Given the description of an element on the screen output the (x, y) to click on. 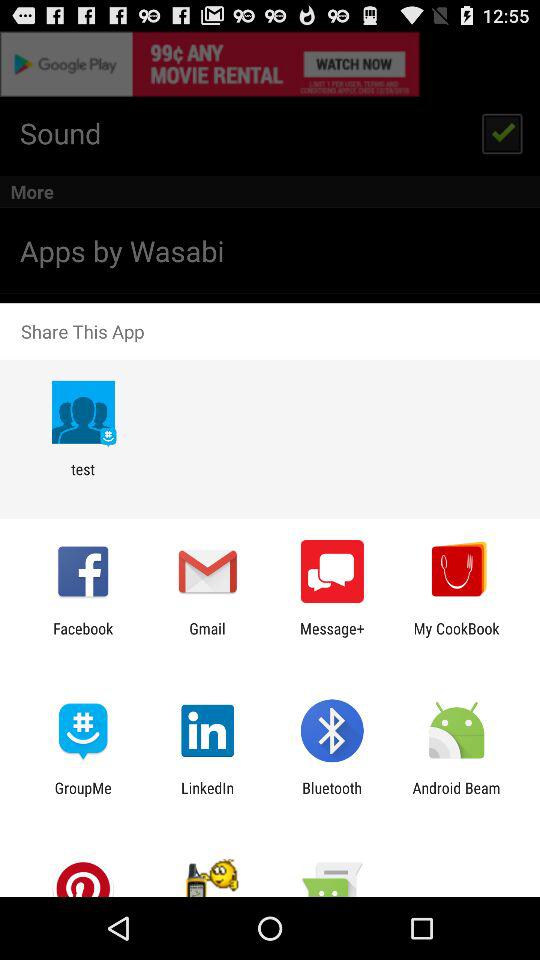
open the icon to the right of gmail app (332, 637)
